Given the description of an element on the screen output the (x, y) to click on. 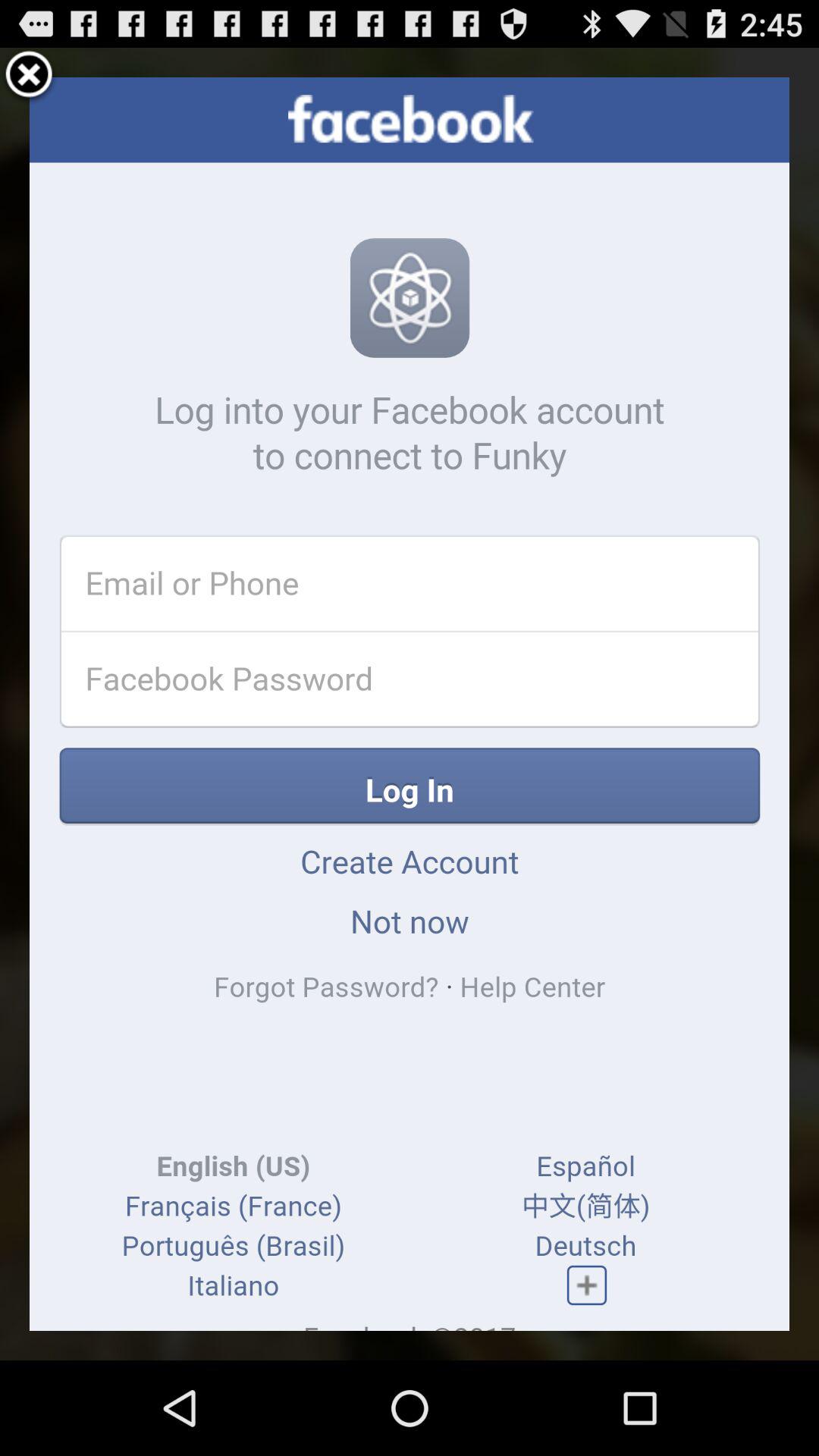
exit facebook login screen (29, 76)
